Given the description of an element on the screen output the (x, y) to click on. 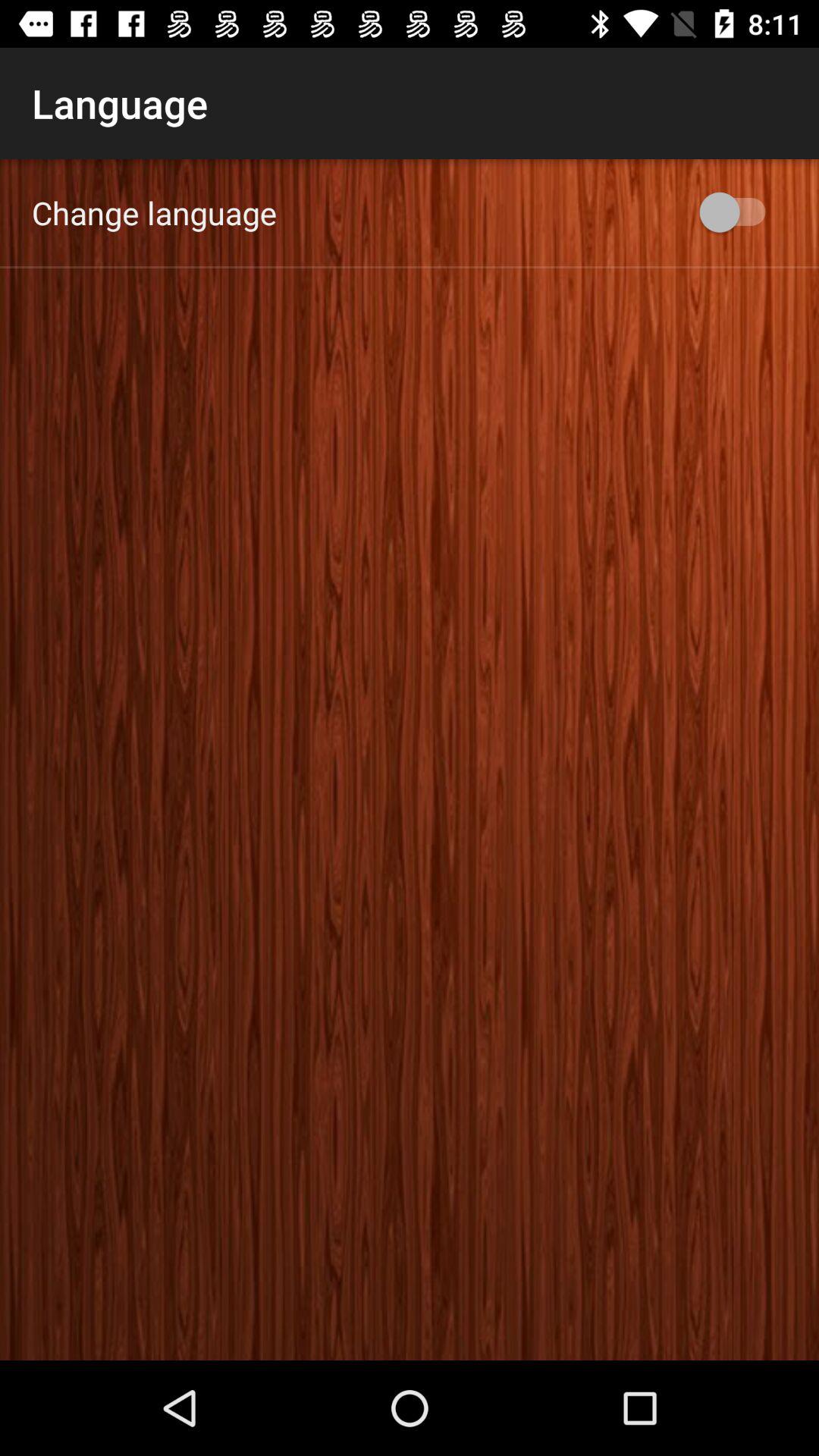
tap icon to the right of the change language app (739, 212)
